Given the description of an element on the screen output the (x, y) to click on. 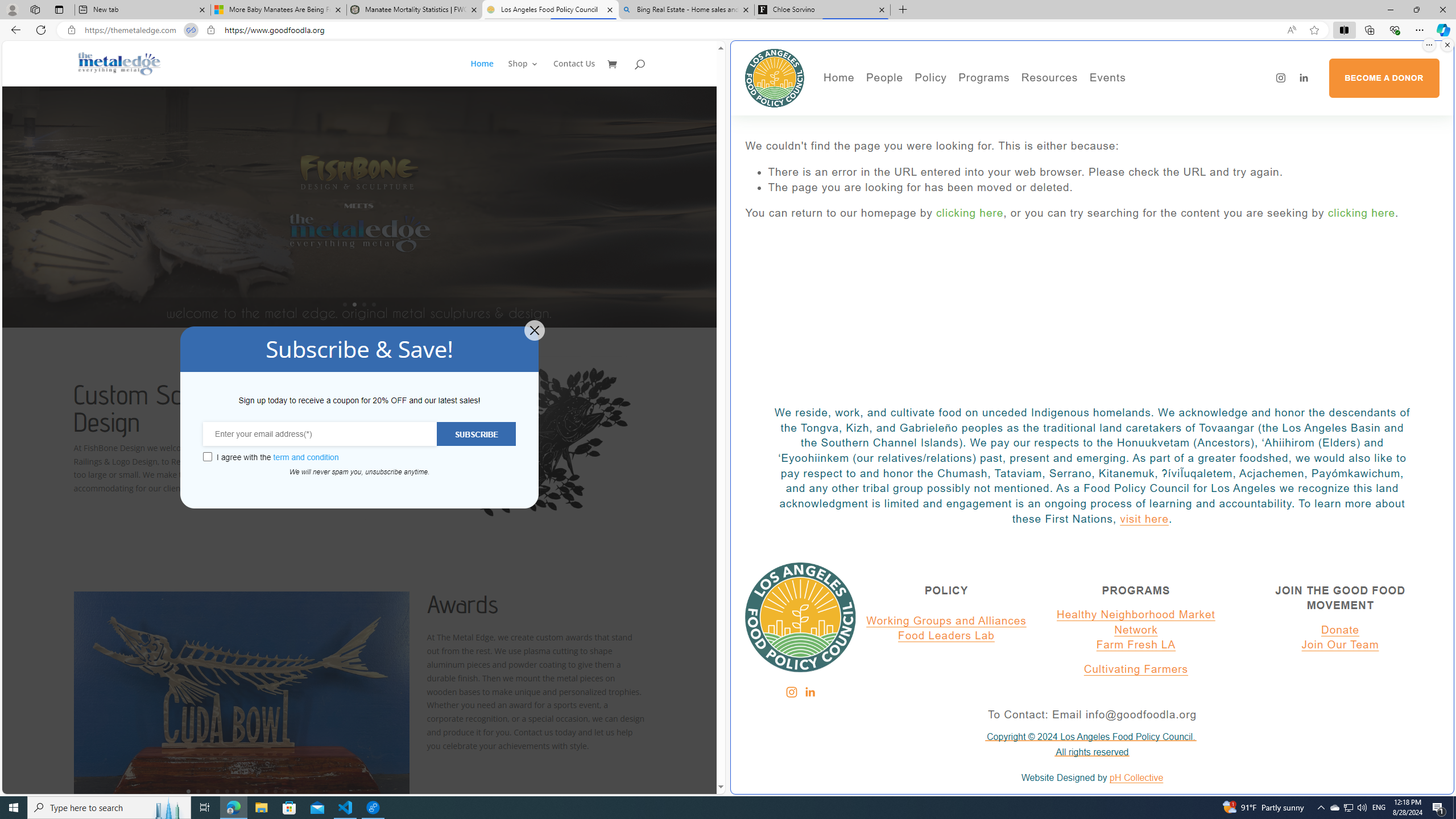
Los Angeles Food Policy Council (774, 77)
Food Rescue Macro Grants (1093, 132)
12 (294, 790)
Metal Fish Sculptures & Metal Designs (119, 63)
Instagram (790, 692)
5 (226, 790)
clicking here (1361, 213)
Resources (1049, 77)
Blog (922, 148)
